Given the description of an element on the screen output the (x, y) to click on. 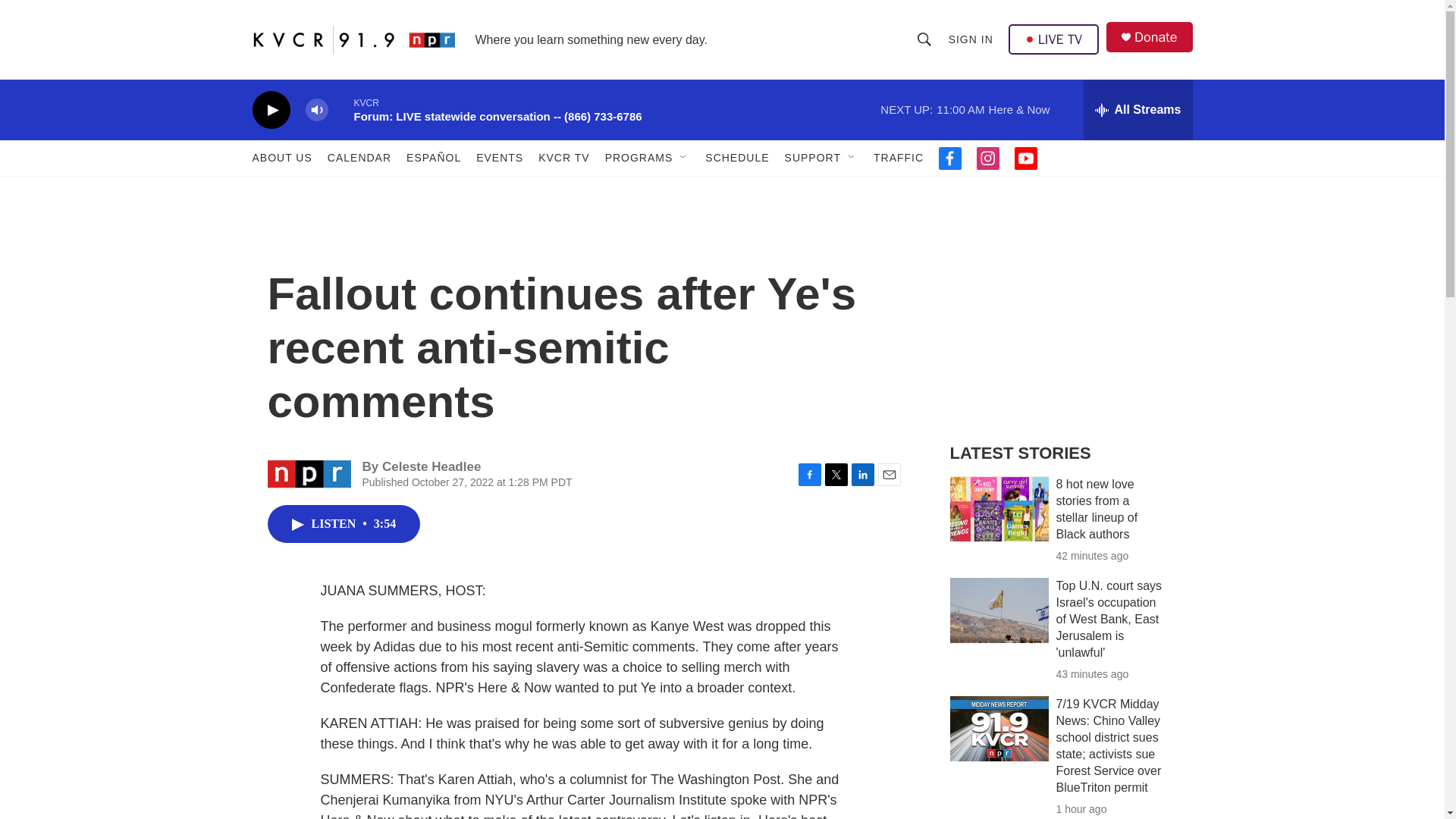
3rd party ad content (1062, 316)
